Given the description of an element on the screen output the (x, y) to click on. 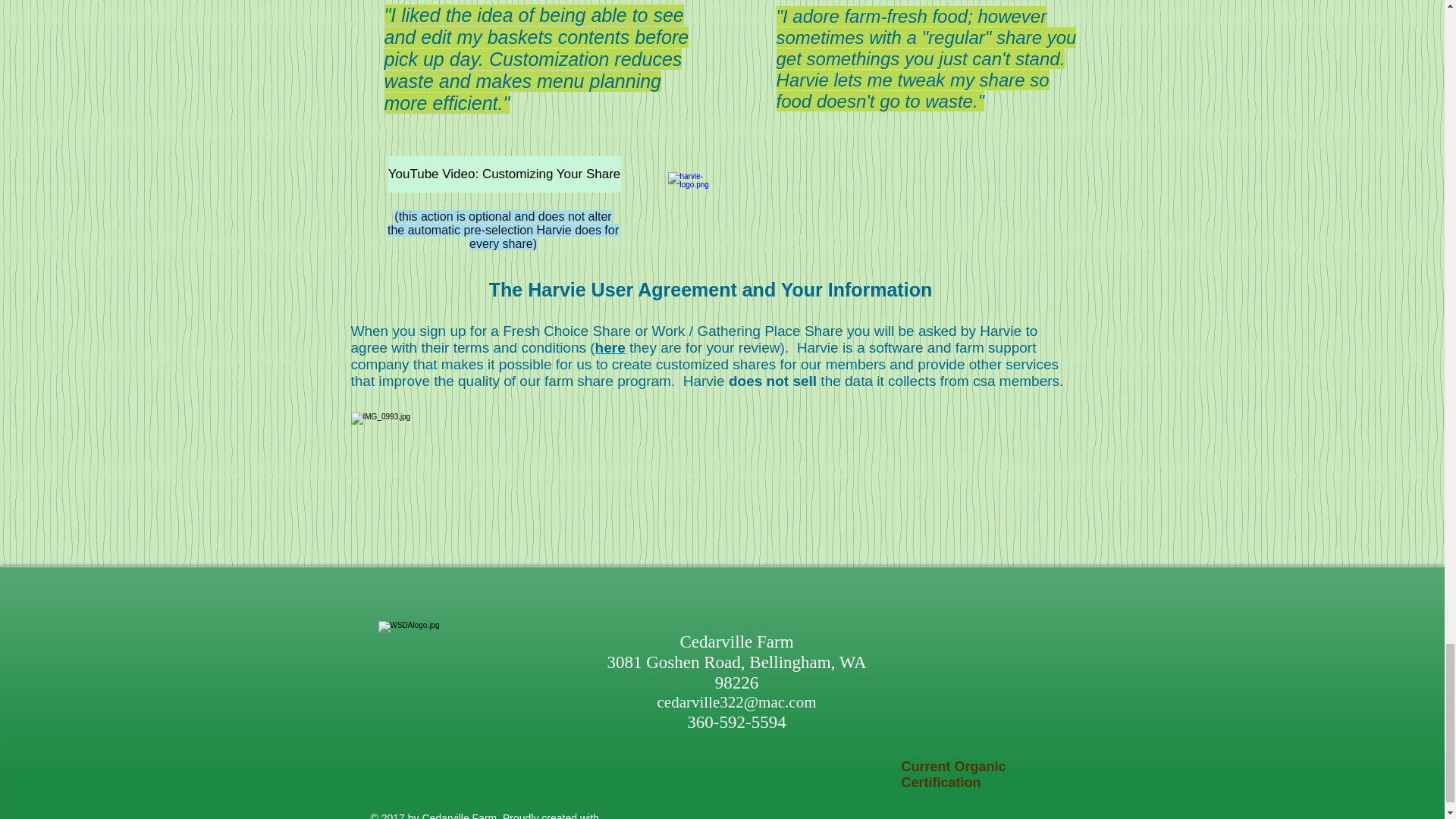
YouTube Video: Customizing Your Share (504, 174)
here (610, 347)
PDF File Viewer (1004, 726)
